Given the description of an element on the screen output the (x, y) to click on. 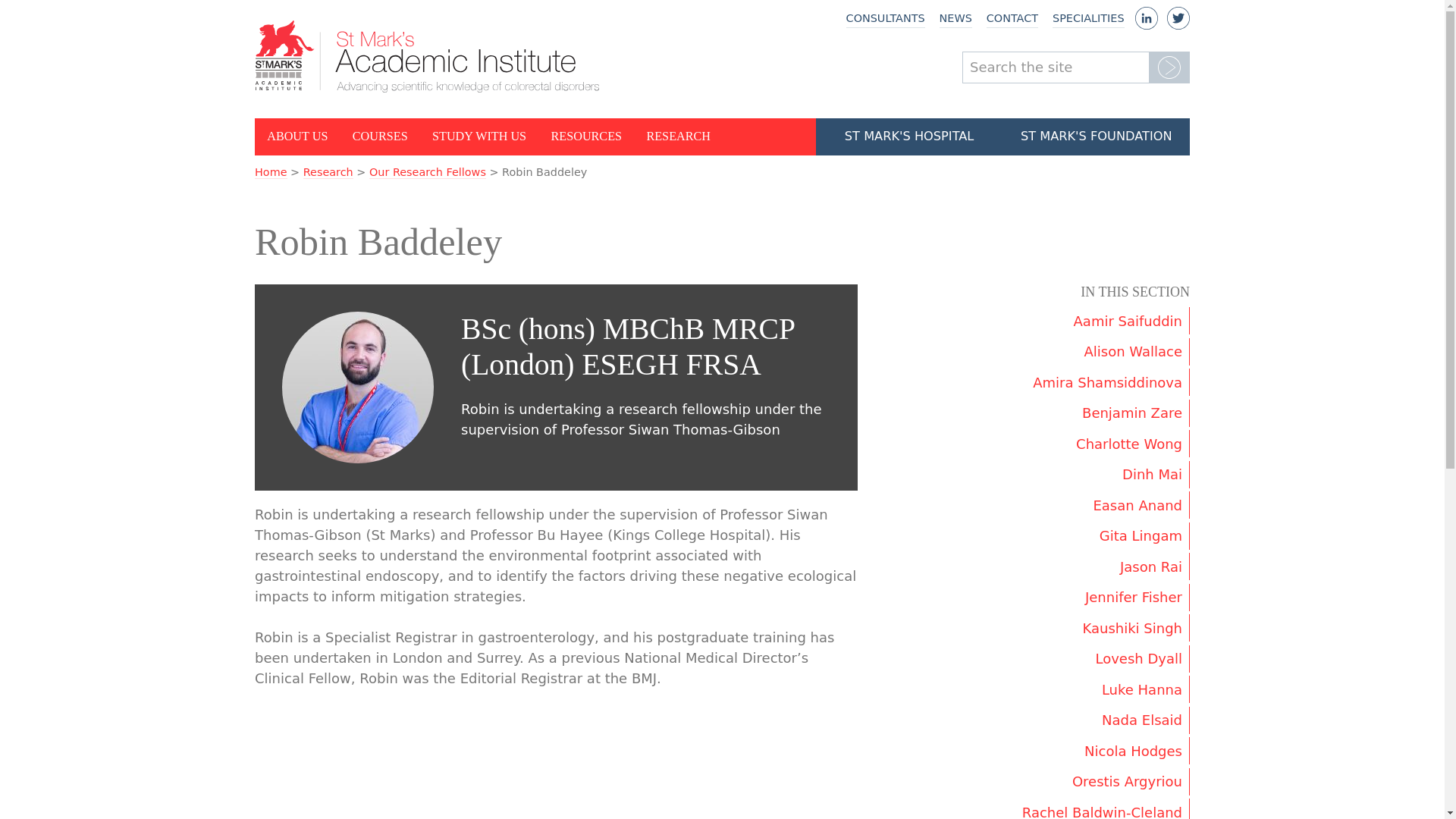
Go to Research. (327, 172)
Submit (1168, 67)
Go to Our Research Fellows. (427, 172)
Home (270, 172)
CONSULTANTS (884, 18)
St Mark's Academic Institute (426, 56)
Charlotte Wong (1095, 443)
Find us on LinkedIn (1146, 24)
Our Research Fellows (427, 172)
NEWS (955, 18)
Nicola Hodges (1095, 750)
RESEARCH (677, 136)
Follow us on Twitter (1178, 24)
CONTACT (1012, 18)
Gita Lingam (1095, 535)
